Given the description of an element on the screen output the (x, y) to click on. 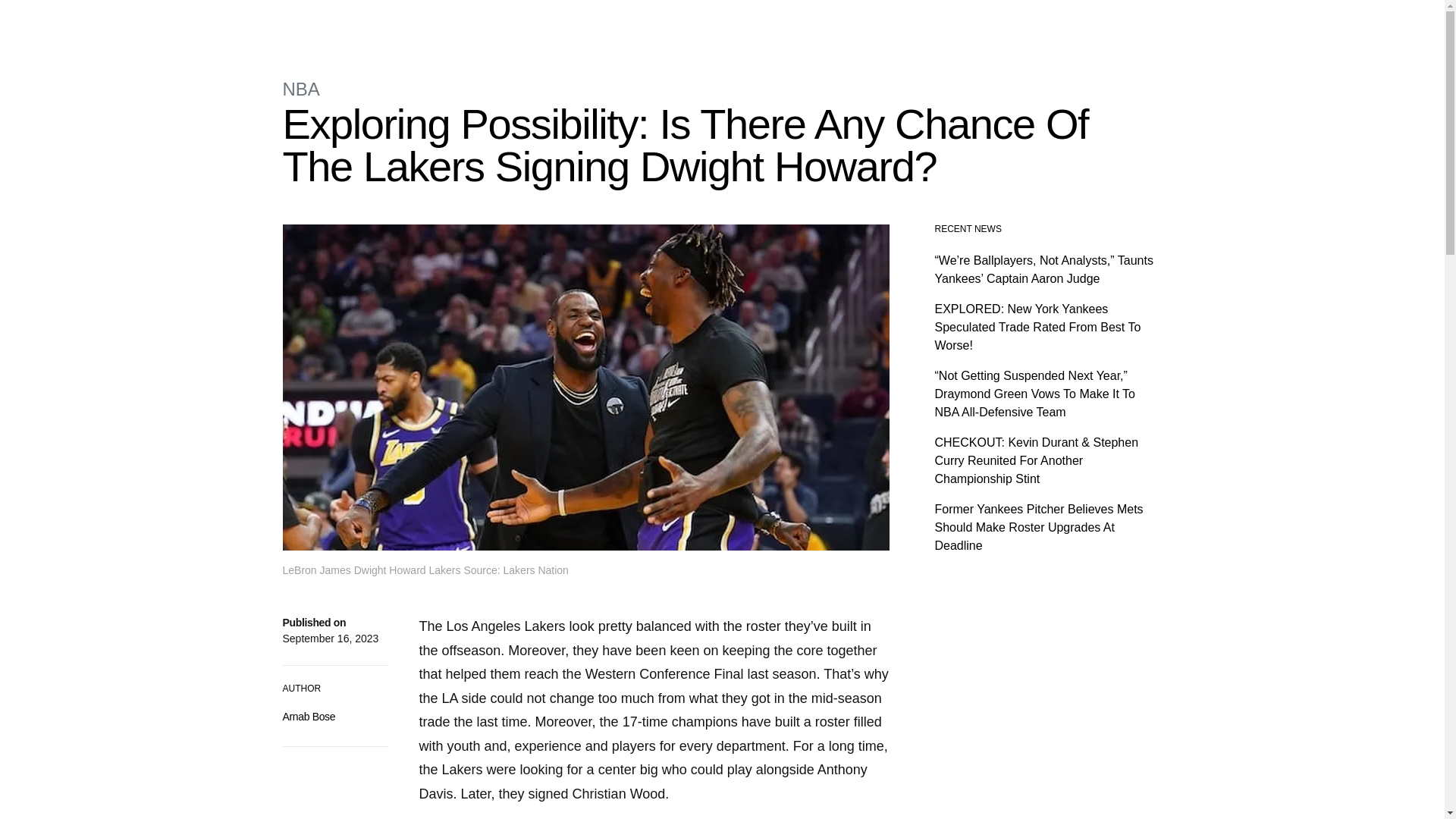
Formula 1 (432, 22)
Football (613, 22)
Tennis (659, 22)
NBA (478, 22)
NBA (300, 88)
MLB (513, 22)
Yankees (559, 22)
Arnab Bose (308, 716)
